Given the description of an element on the screen output the (x, y) to click on. 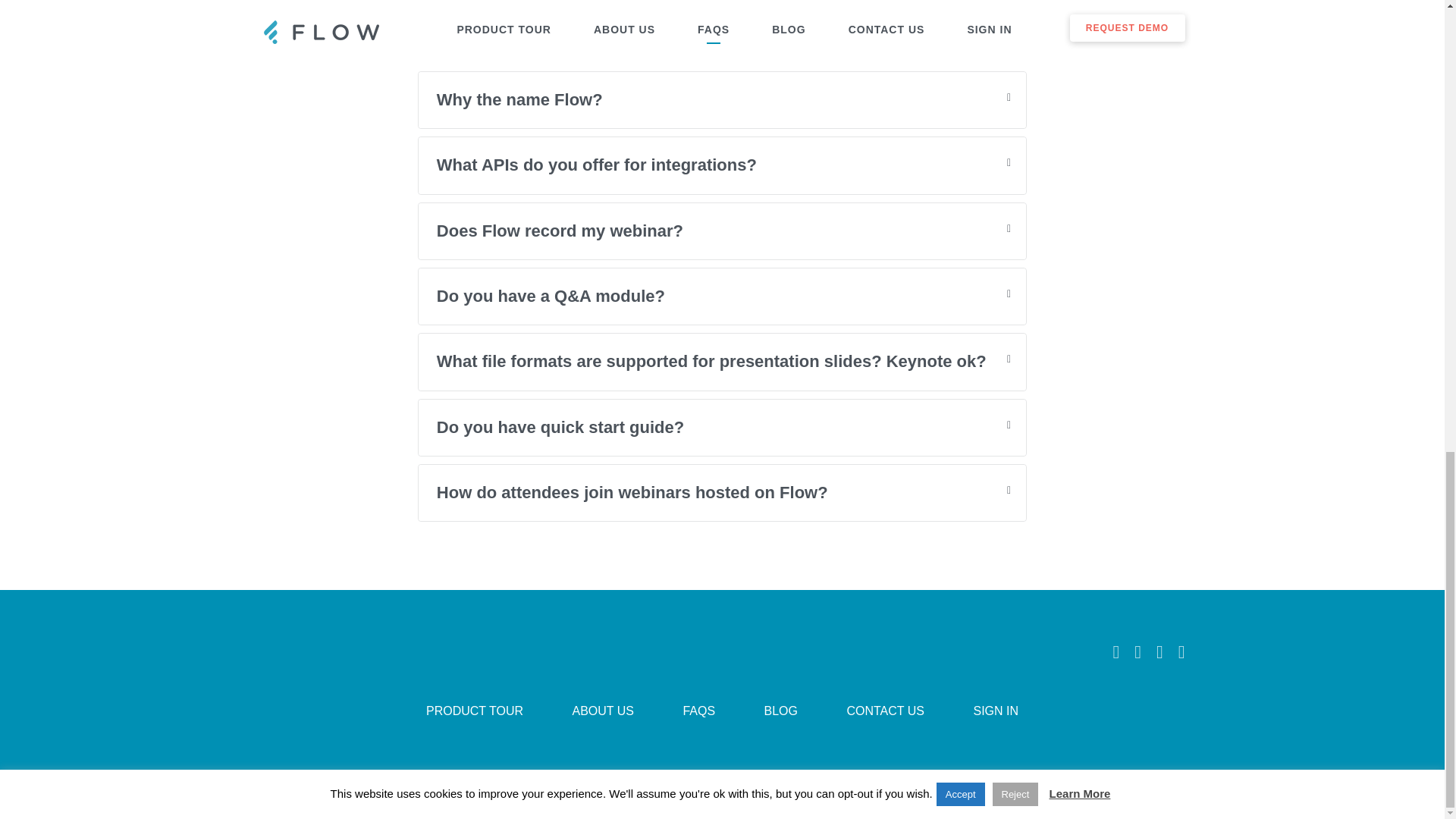
PRODUCT TOUR (474, 710)
Why the name Flow? (722, 99)
SIGN IN (994, 710)
FAQS (698, 710)
What APIs do you offer for integrations? (722, 165)
Does Flow record my webinar? (722, 231)
CONTACT US (884, 710)
ABOUT US (602, 710)
How many attendees can get on a webinar? (722, 33)
How do attendees join webinars hosted on Flow? (722, 492)
BLOG (780, 710)
Do you have quick start guide? (722, 427)
